Given the description of an element on the screen output the (x, y) to click on. 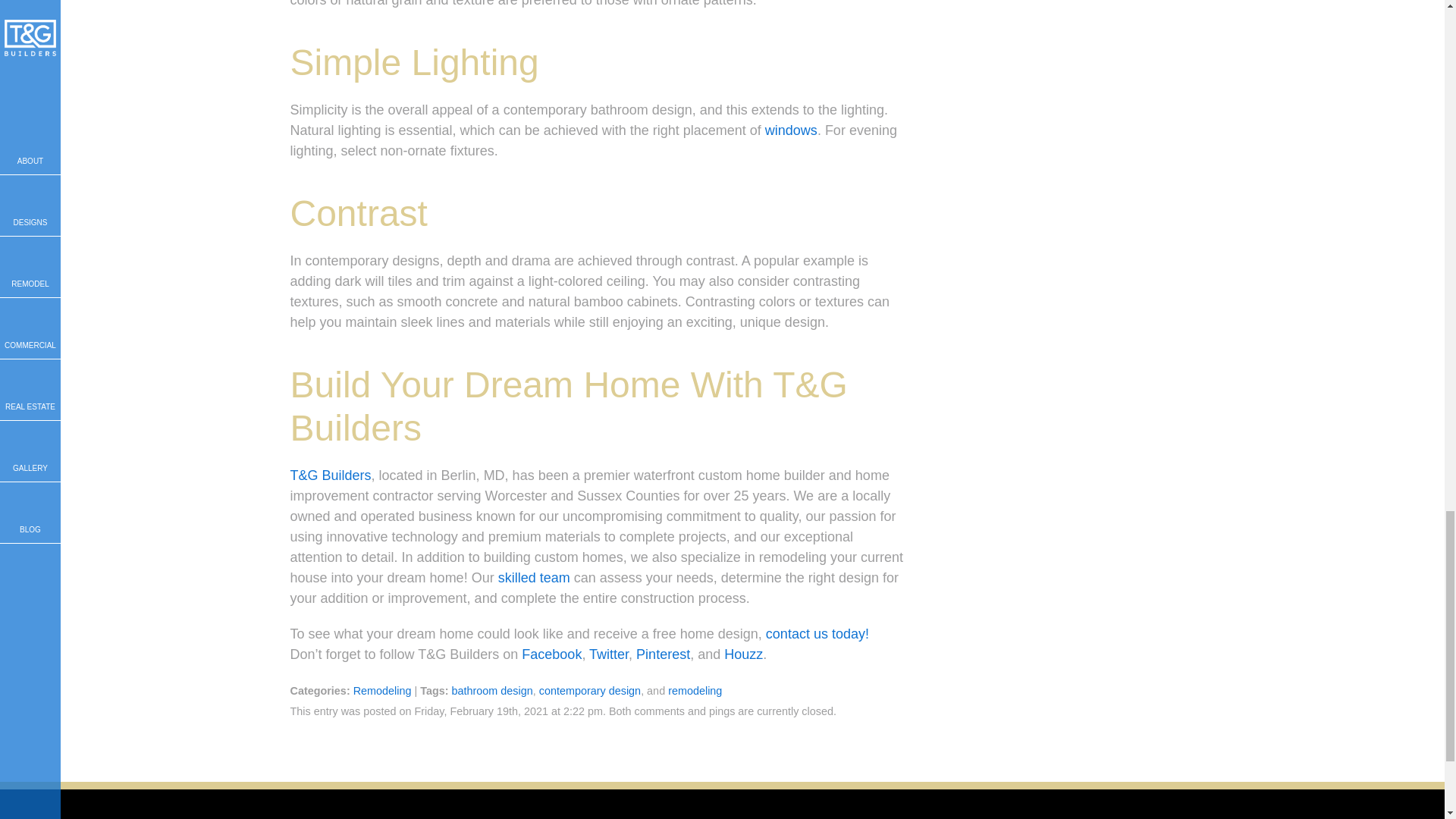
Facebook (550, 654)
windows (790, 130)
contact us today! (817, 633)
skilled team (533, 577)
